Given the description of an element on the screen output the (x, y) to click on. 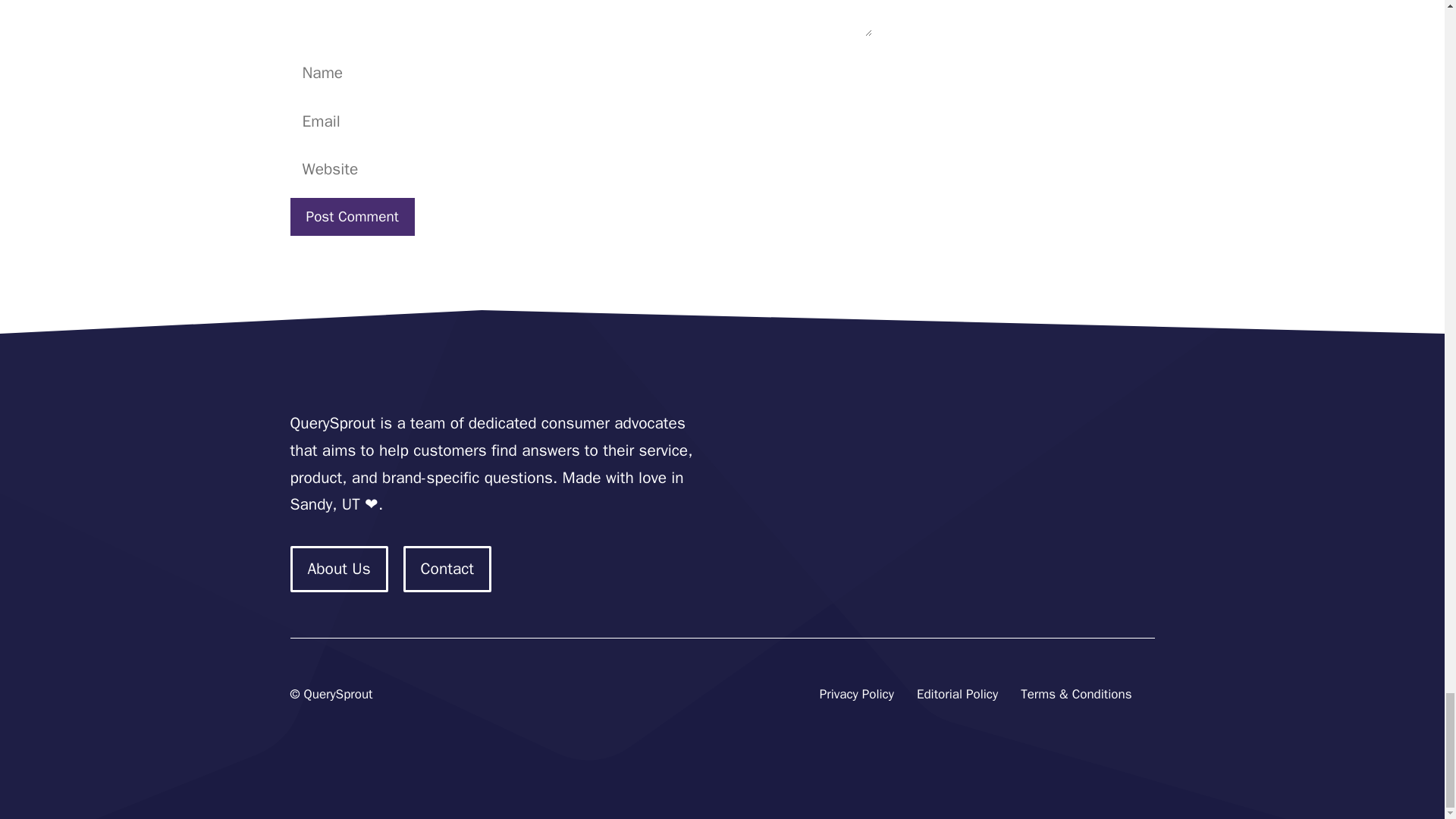
Post Comment (351, 217)
